Given the description of an element on the screen output the (x, y) to click on. 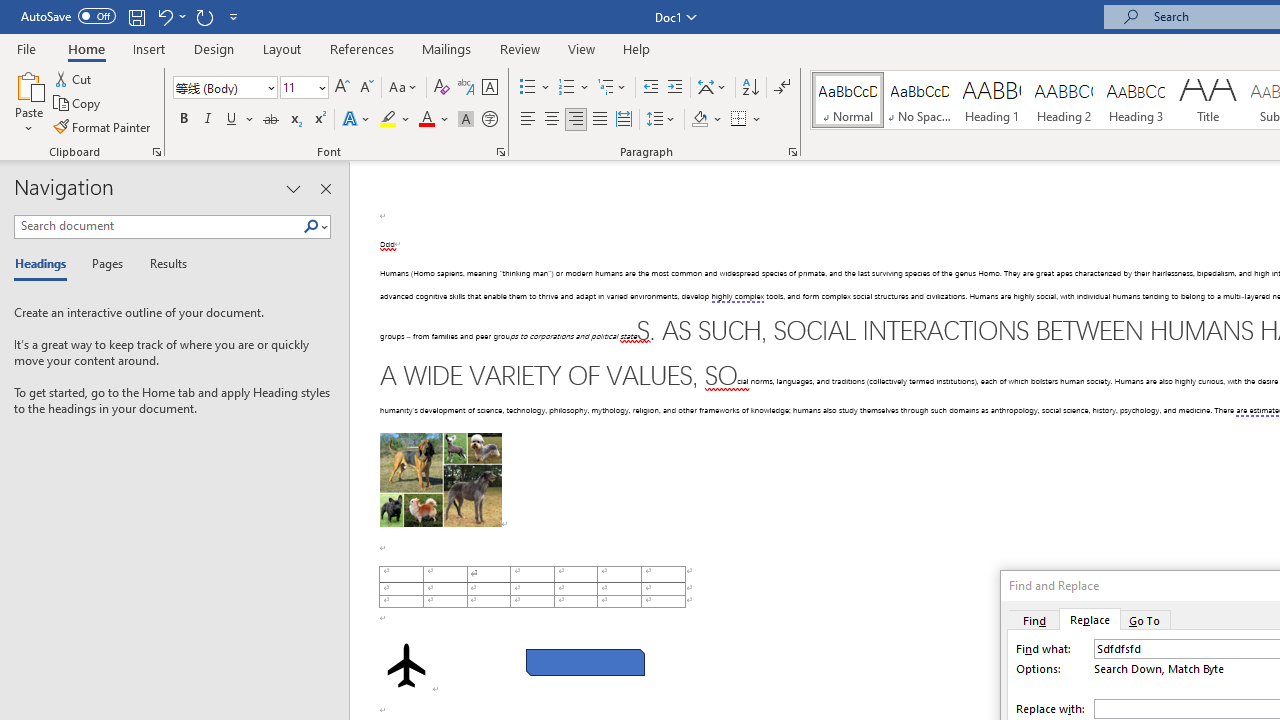
Review (520, 48)
Text Effects and Typography (357, 119)
Shrink Font (365, 87)
Save (136, 15)
Font Color (434, 119)
Bold (183, 119)
Title (1208, 100)
Open (320, 87)
Results (161, 264)
Character Shading (465, 119)
System (10, 11)
Asian Layout (712, 87)
Pages (105, 264)
Strikethrough (270, 119)
Search (311, 227)
